Given the description of an element on the screen output the (x, y) to click on. 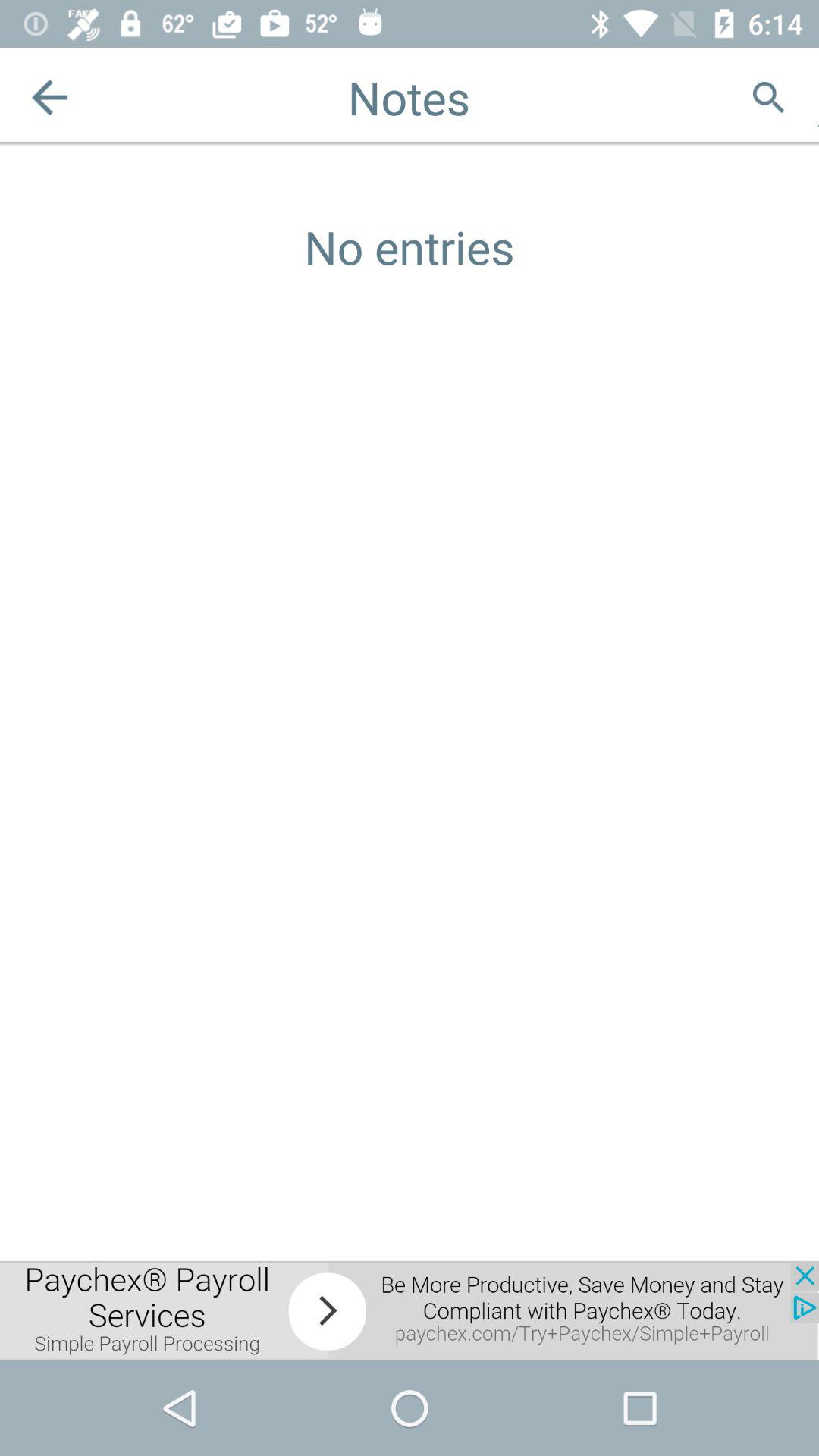
search icon (768, 97)
